Given the description of an element on the screen output the (x, y) to click on. 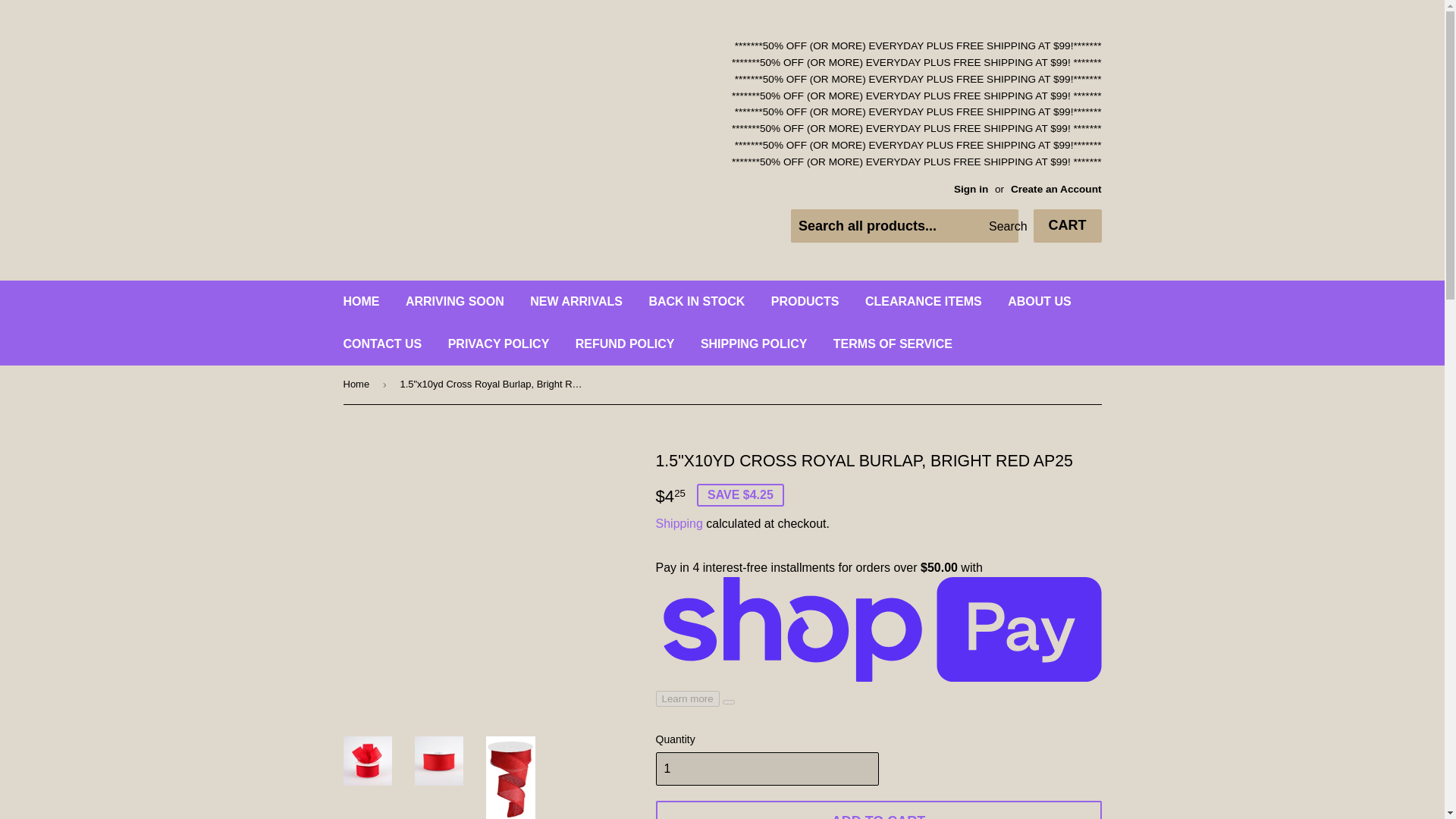
CART (1066, 225)
Create an Account (1056, 188)
1 (766, 768)
Sign in (970, 188)
Search (1000, 226)
